Given the description of an element on the screen output the (x, y) to click on. 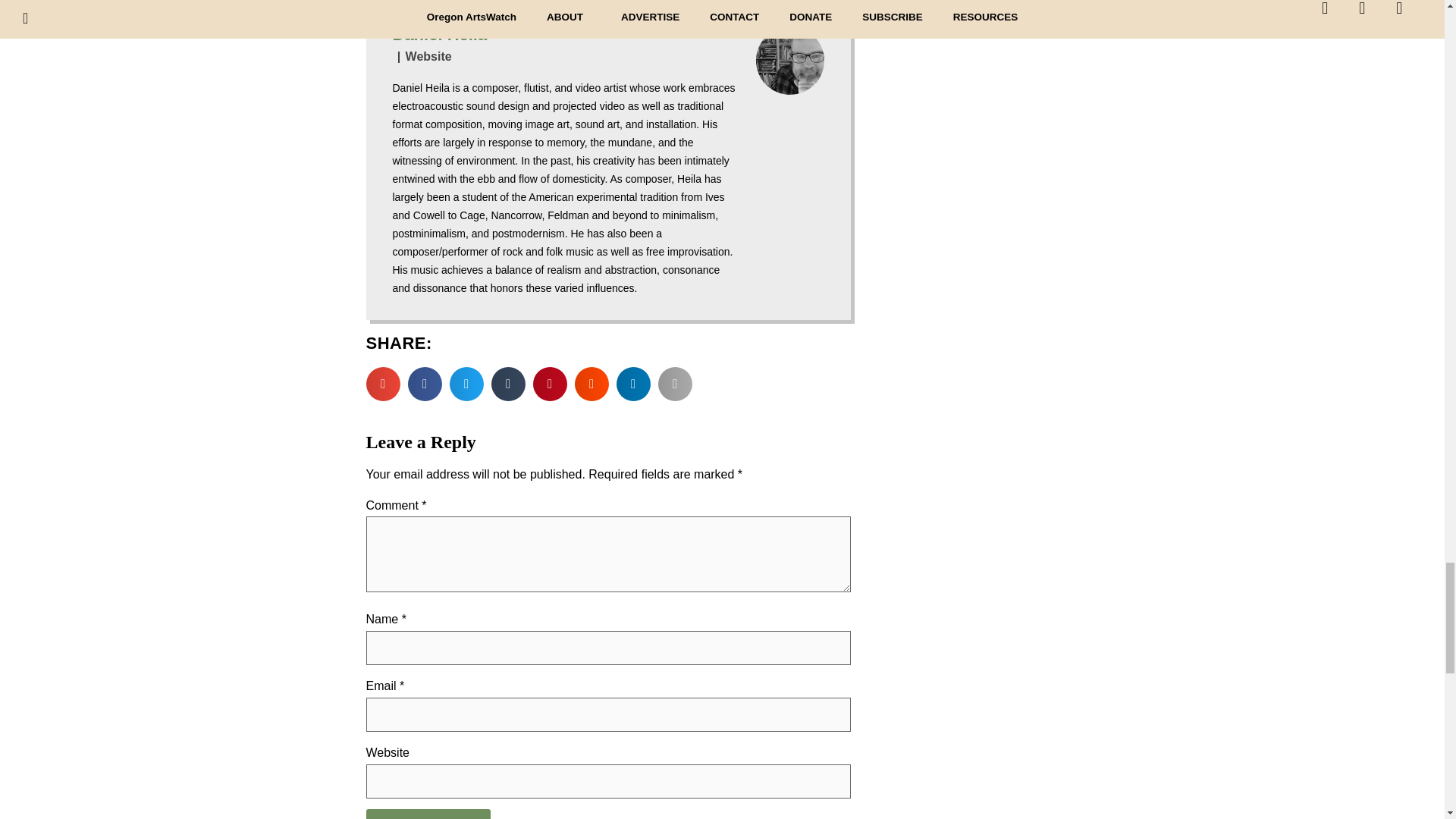
Post Comment (427, 814)
